Given the description of an element on the screen output the (x, y) to click on. 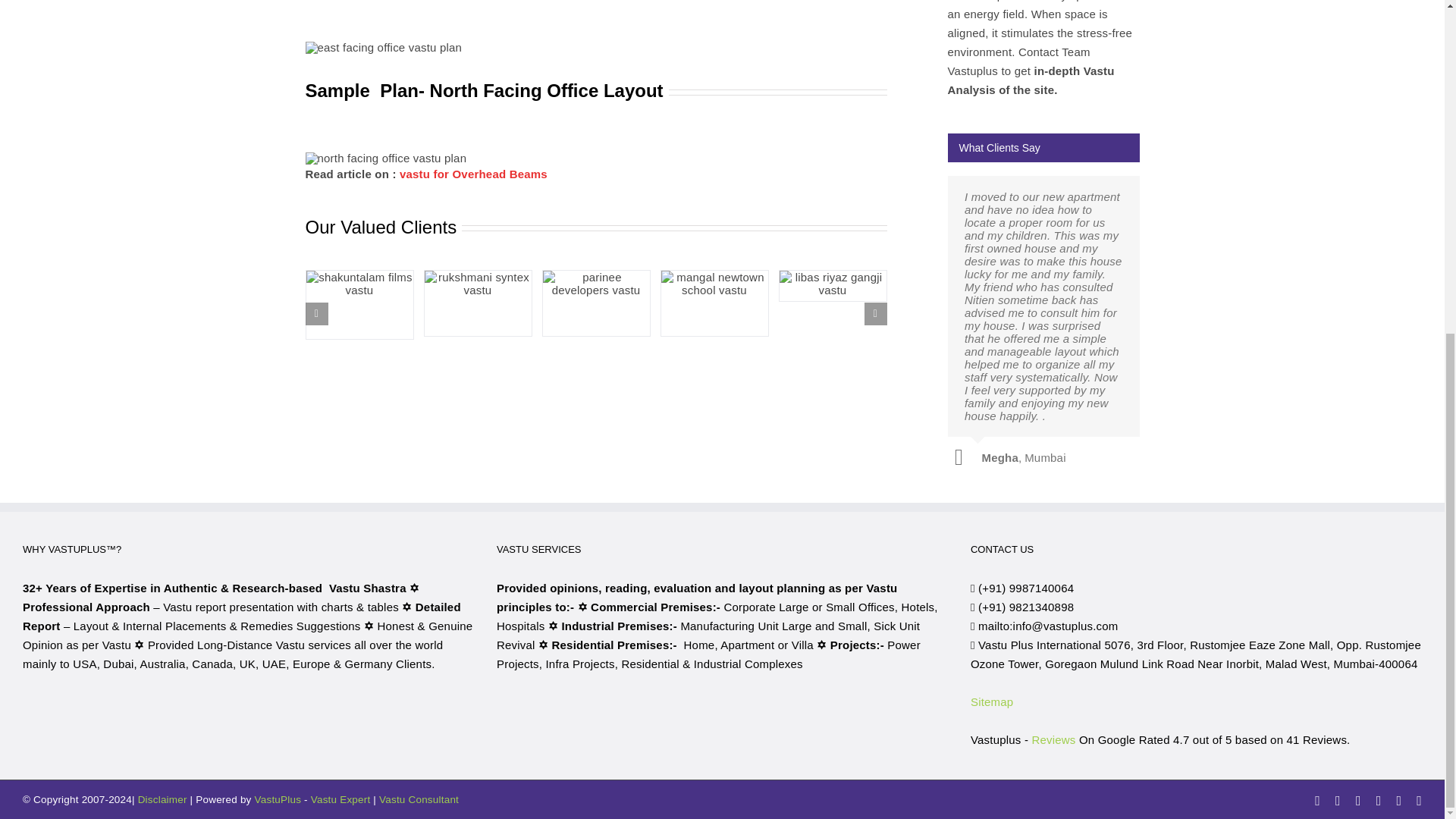
north facing office plan (384, 158)
Our Valued Clients (595, 311)
east-facing-vastu-office (382, 47)
